Given the description of an element on the screen output the (x, y) to click on. 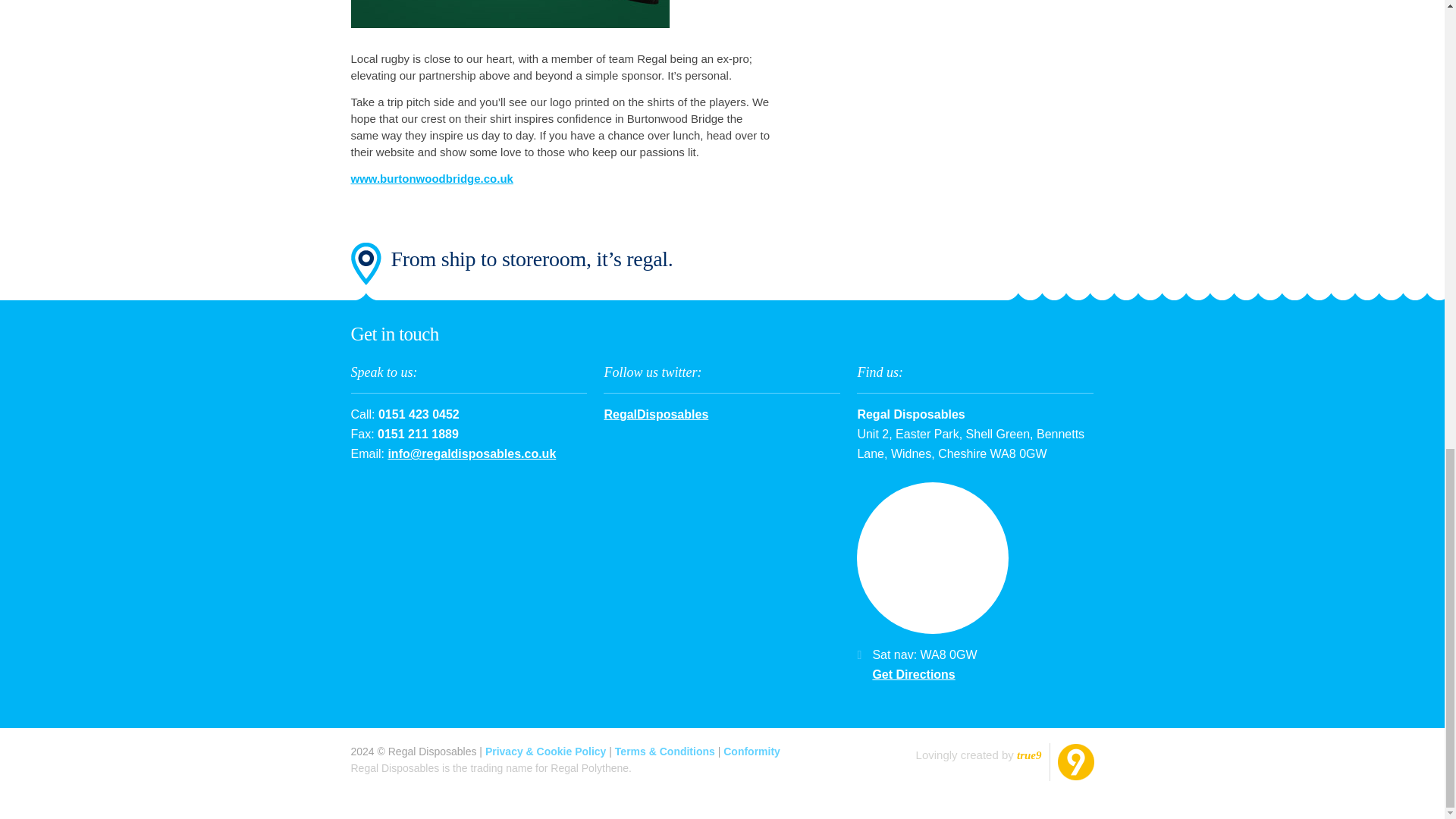
Conformity (751, 751)
Lovingly created by true9 (985, 761)
www.burtonwoodbridge.co.uk (431, 178)
RegalDisposables (655, 413)
Get Directions (913, 674)
